Given the description of an element on the screen output the (x, y) to click on. 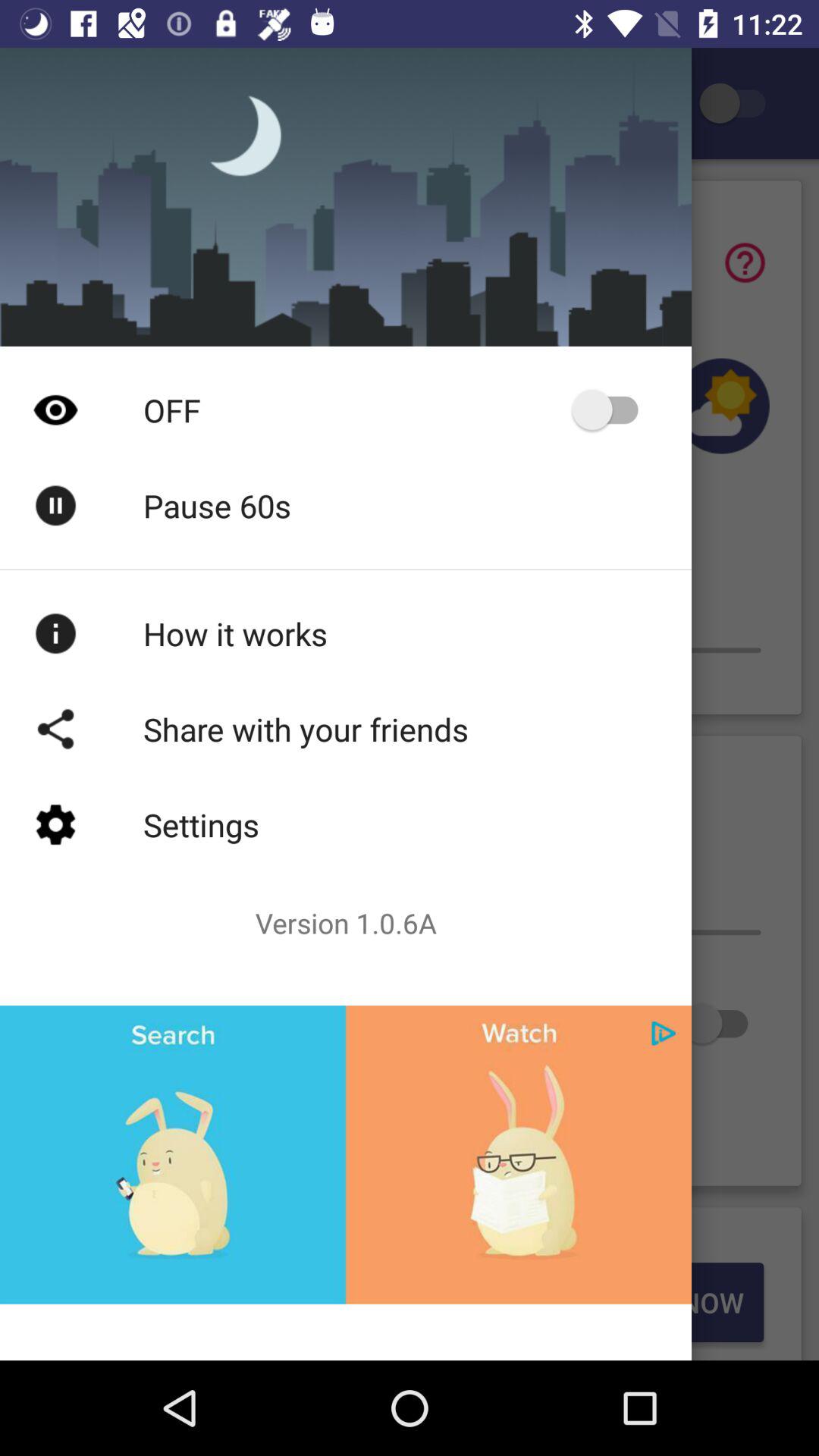
help button (744, 262)
